Given the description of an element on the screen output the (x, y) to click on. 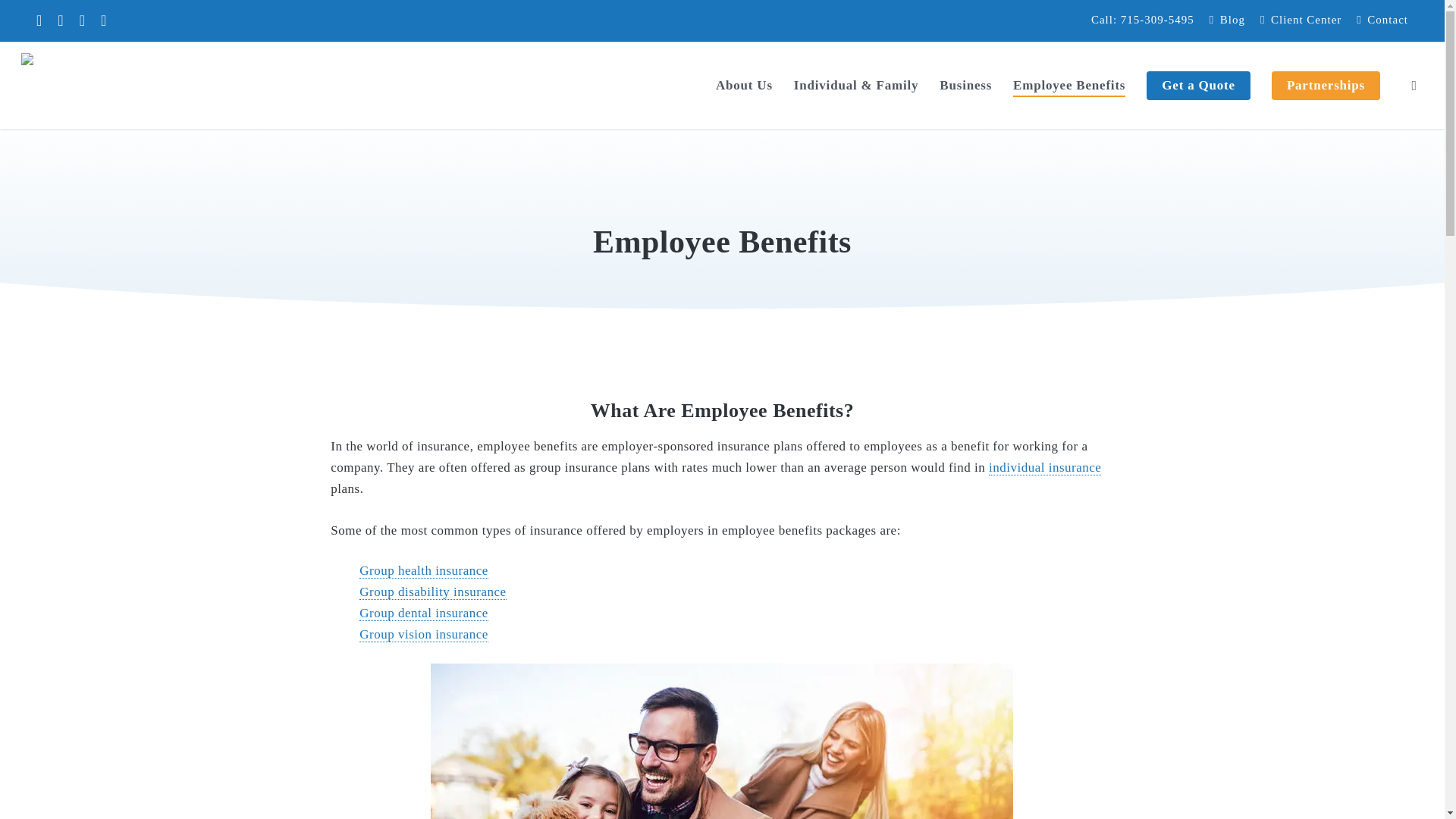
Employee Benefits (1069, 85)
Contact (1382, 19)
About Us (744, 85)
Blog (1227, 19)
Client Center (1300, 19)
Call: 715-309-5495 (1142, 19)
Business (965, 85)
